Given the description of an element on the screen output the (x, y) to click on. 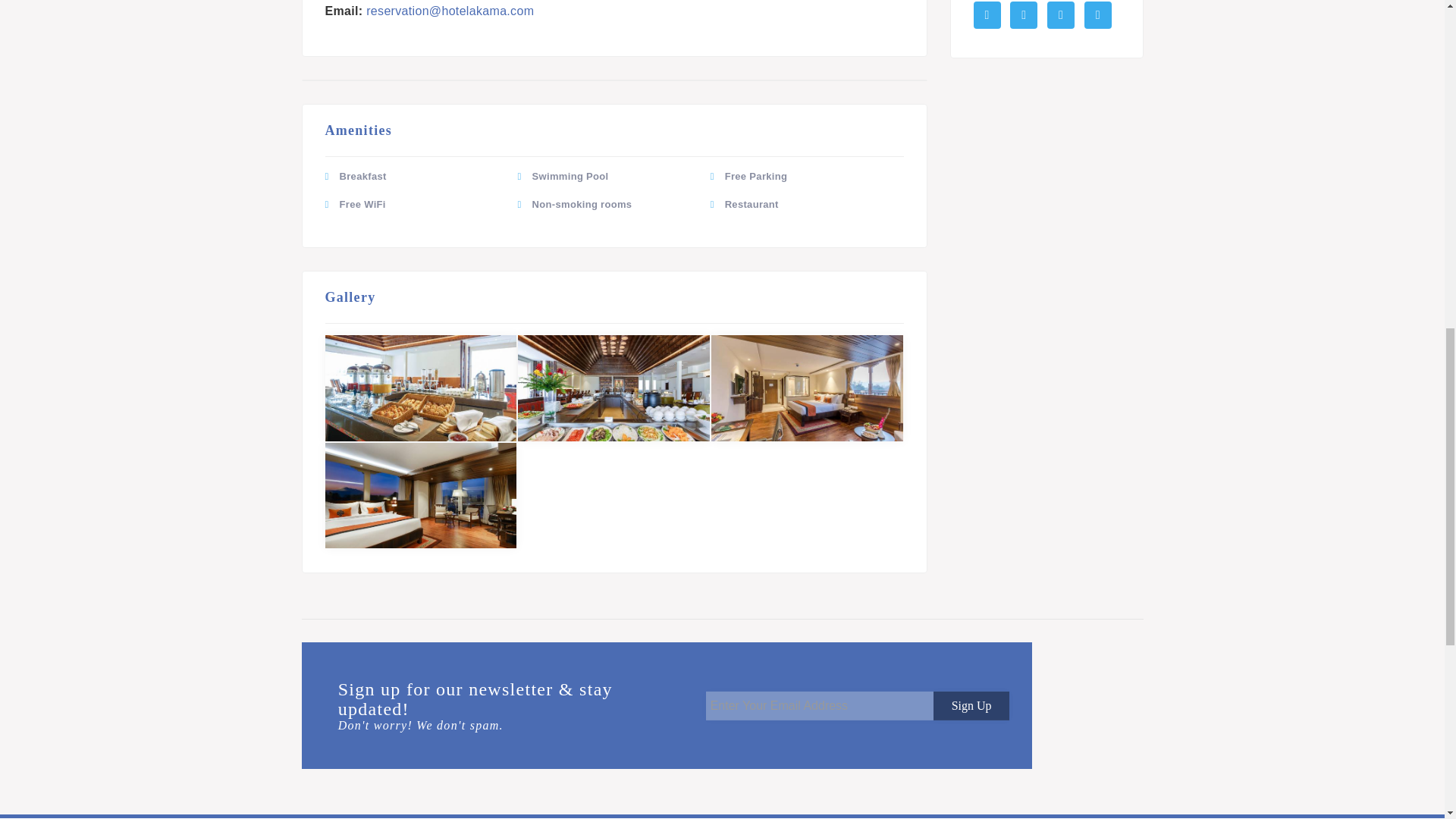
Sign Up (971, 705)
